Given the description of an element on the screen output the (x, y) to click on. 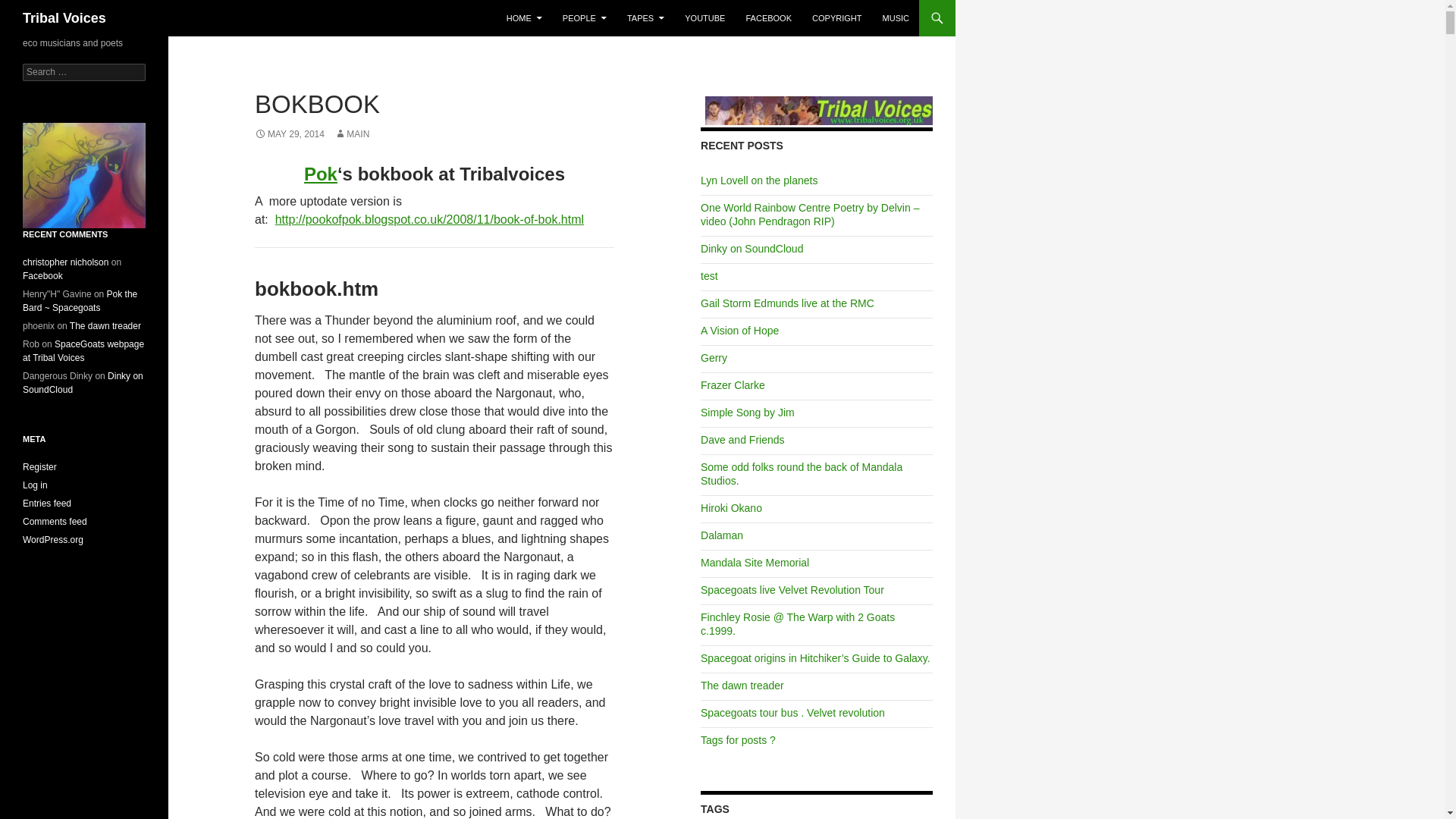
Pok (320, 173)
Dave and Friends (742, 439)
PEOPLE (584, 18)
Some odd folks round the back of Mandala Studios. (801, 473)
Pok (320, 173)
MUSIC (895, 18)
HOME (524, 18)
COPYRIGHT (836, 18)
Lyn Lovell on the planets (758, 180)
Gail Storm Edmunds live at the RMC (787, 303)
